Given the description of an element on the screen output the (x, y) to click on. 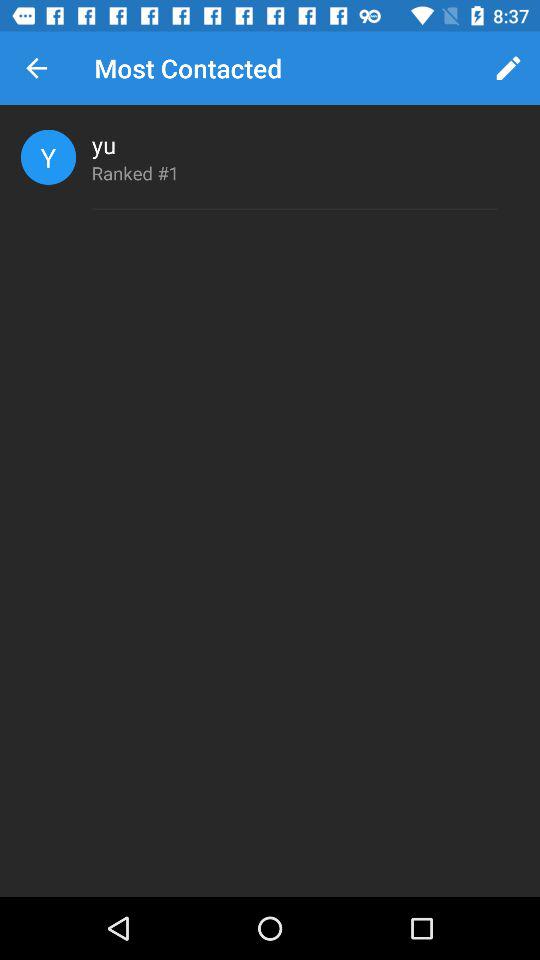
select item next to most contacted (508, 67)
